Given the description of an element on the screen output the (x, y) to click on. 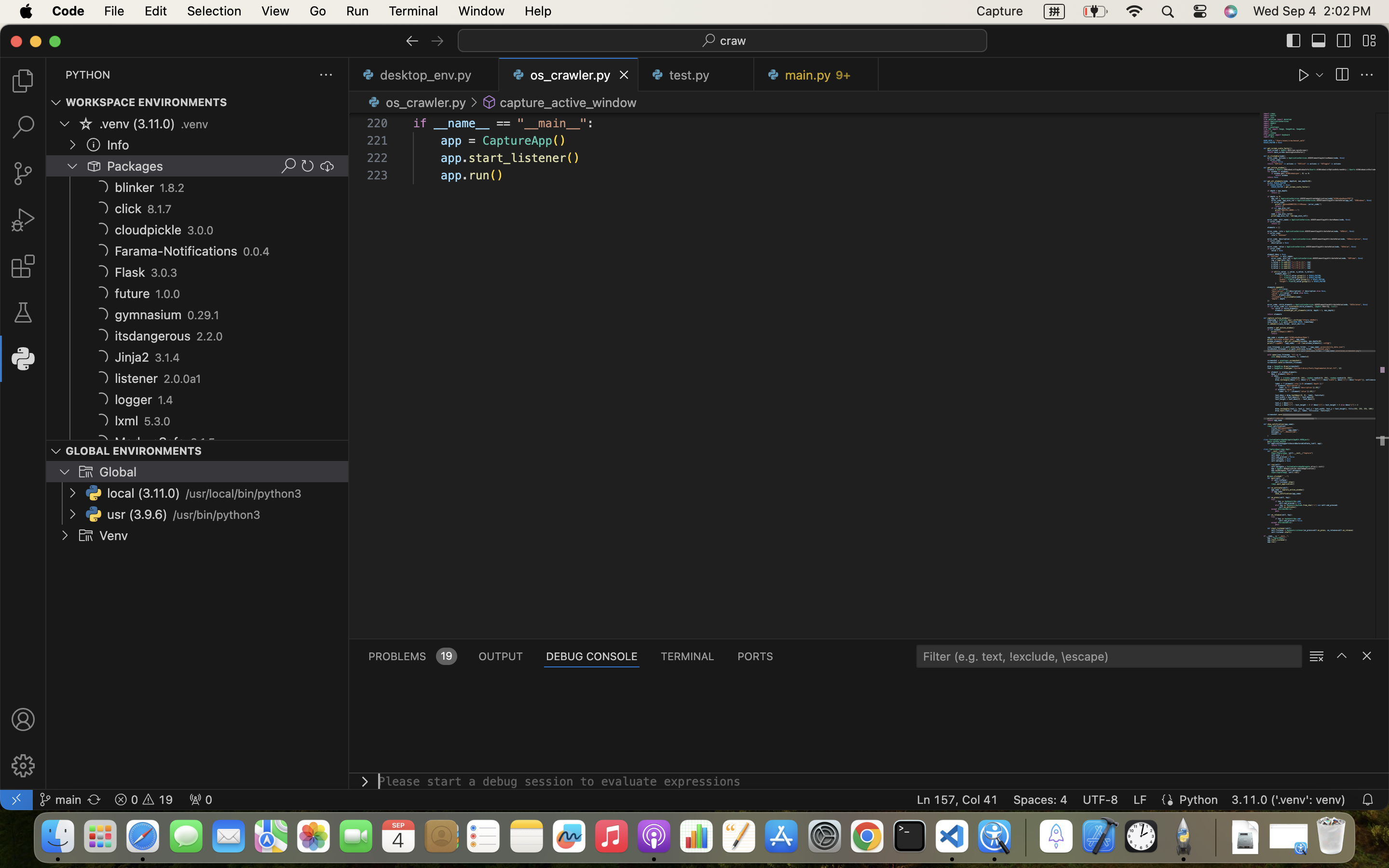
 Element type: AXGroup (23, 719)
0  Element type: AXRadioButton (23, 266)
GLOBAL ENVIRONMENTS Element type: AXStaticText (133, 450)
 Element type: AXButton (1369, 40)
 Element type: AXButton (437, 40)
